Given the description of an element on the screen output the (x, y) to click on. 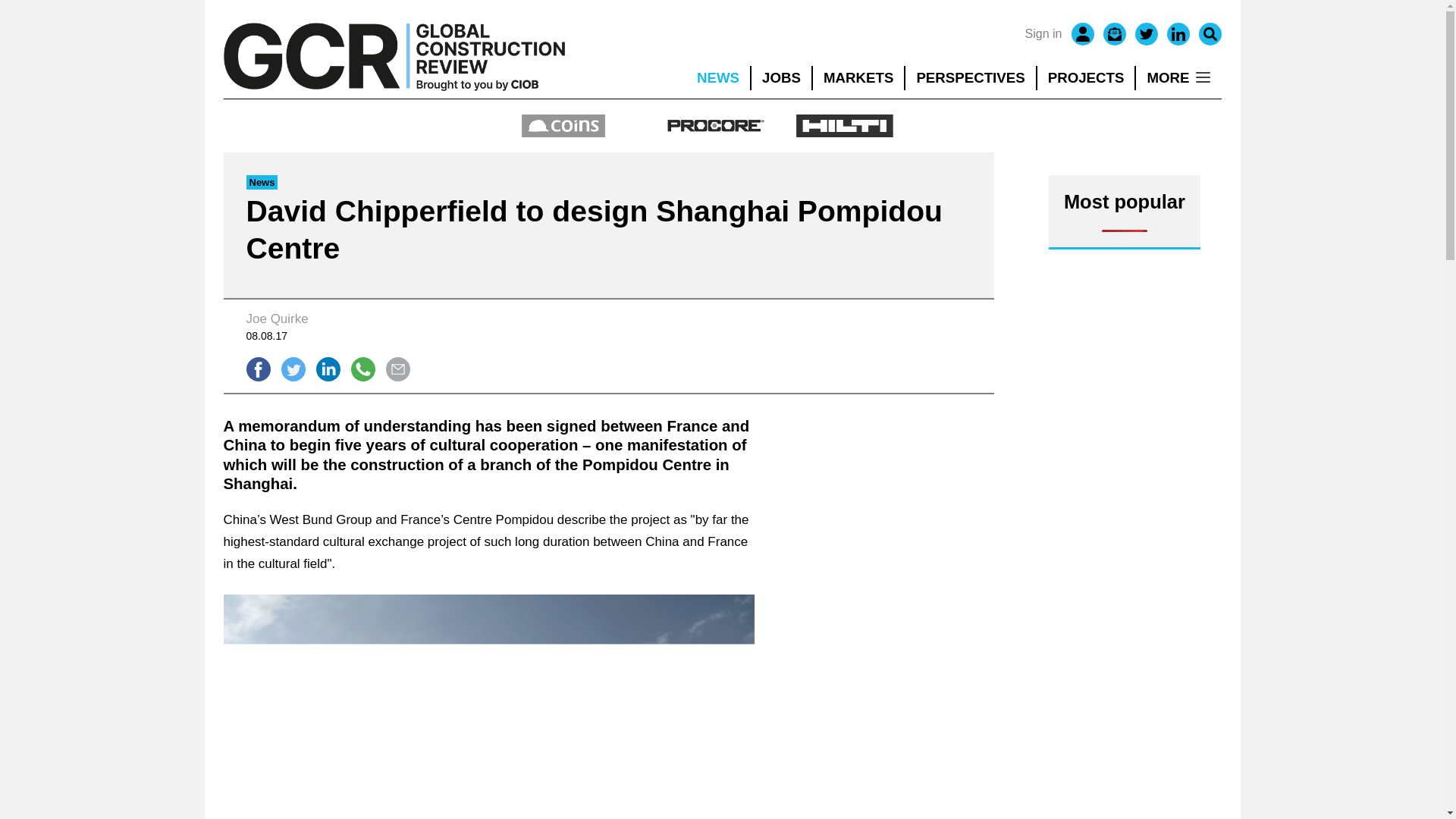
JOBS (780, 78)
Tweet (292, 369)
NEWS (717, 78)
PERSPECTIVES (970, 78)
MORE (1178, 78)
Share on WhatsApp (362, 369)
PROJECTS (1085, 78)
Send email (397, 369)
MARKETS (858, 78)
Sign in (1043, 34)
